Given the description of an element on the screen output the (x, y) to click on. 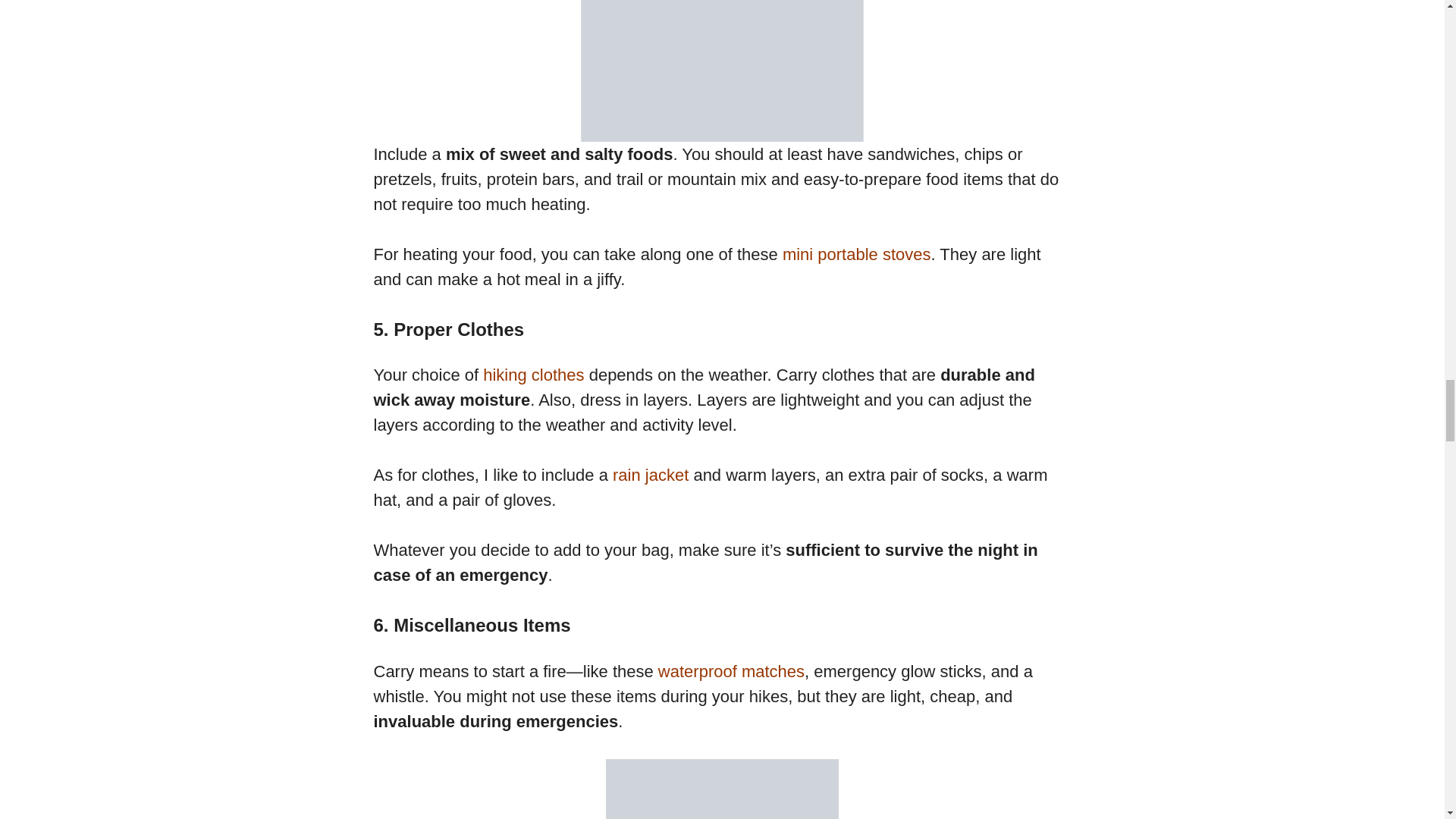
hiking clothes (533, 374)
mini portable stoves (857, 253)
rain jacket (650, 475)
waterproof matches (731, 670)
